Given the description of an element on the screen output the (x, y) to click on. 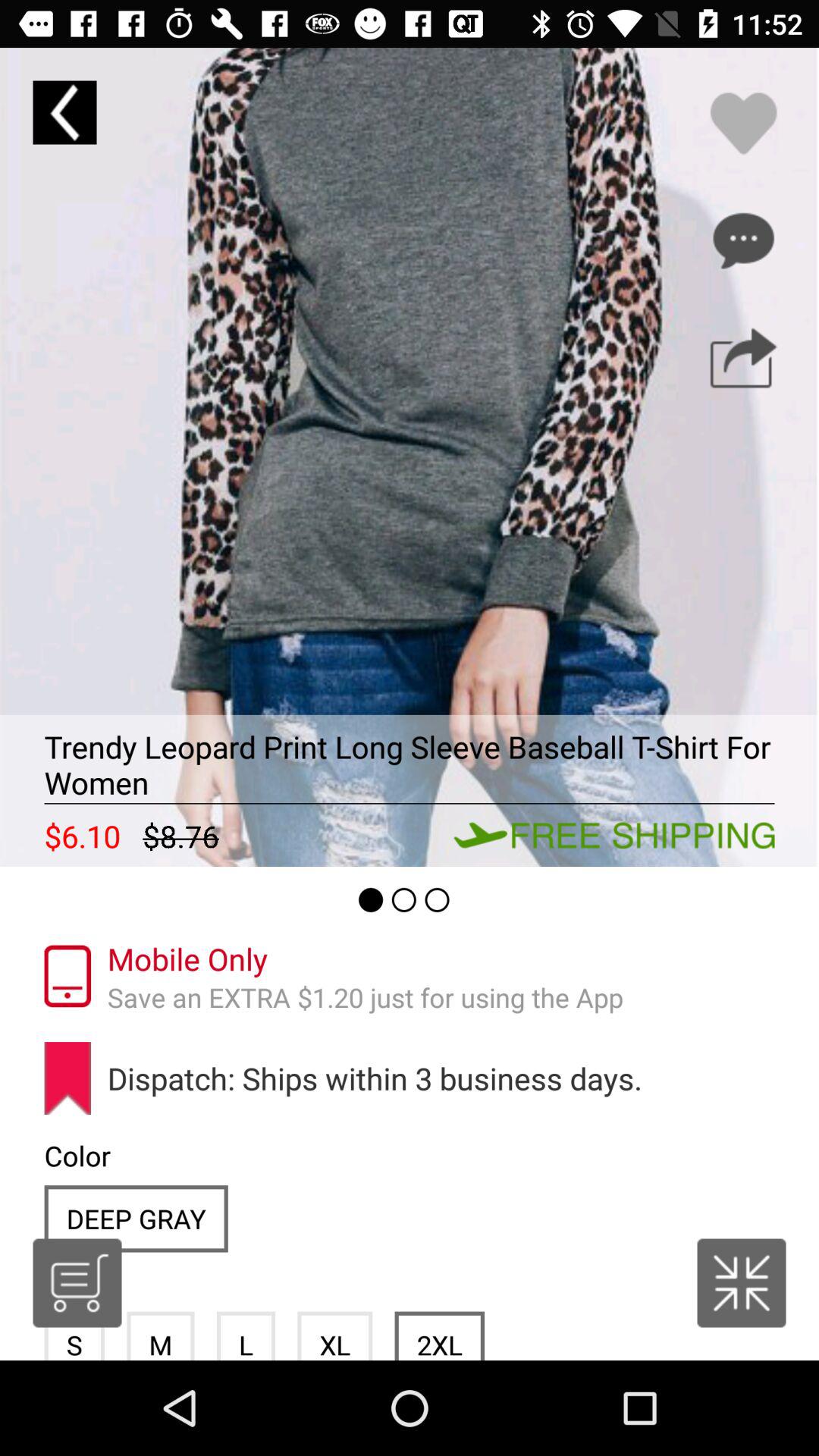
chat button (743, 240)
